Given the description of an element on the screen output the (x, y) to click on. 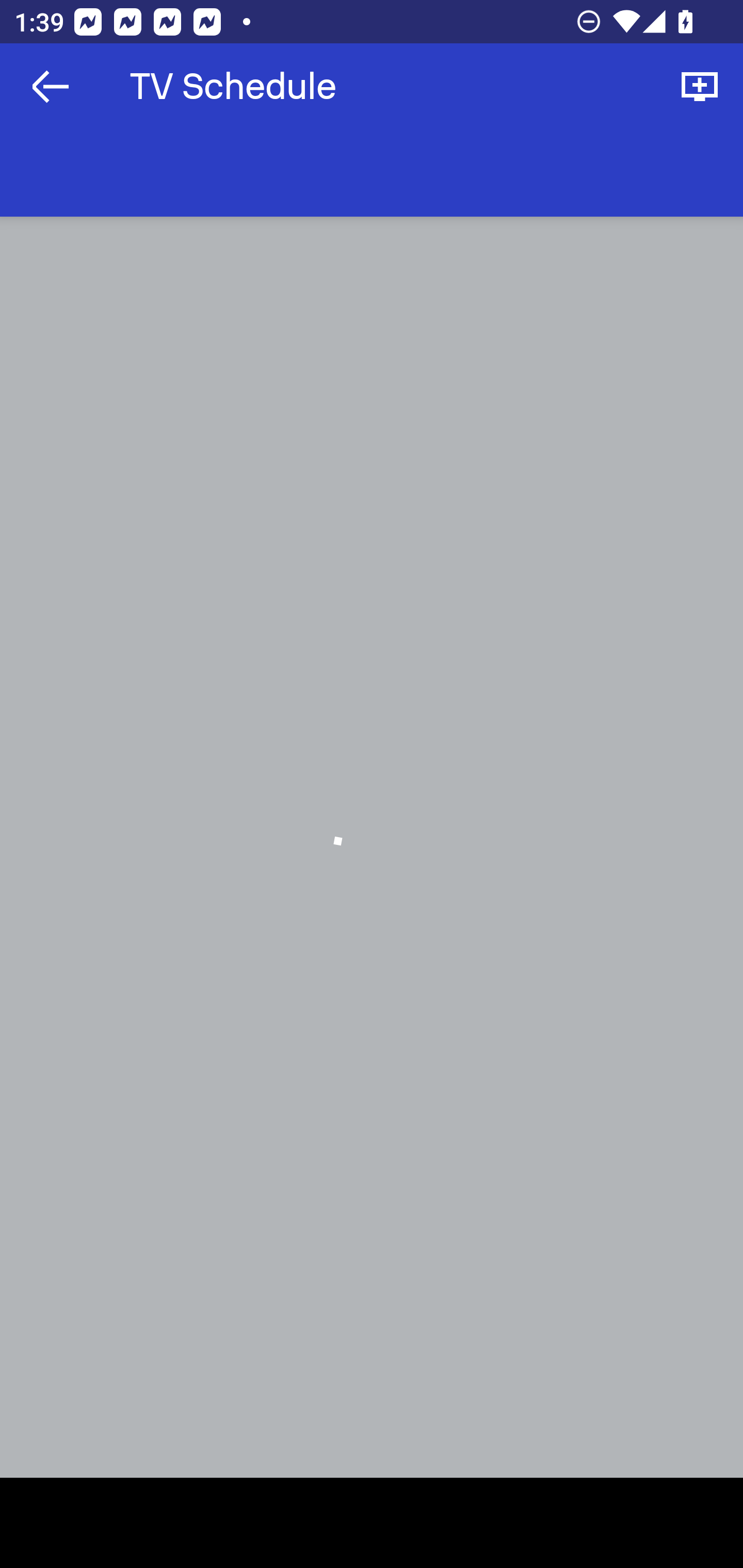
Navigate up (50, 86)
Edit channels (699, 86)
